Given the description of an element on the screen output the (x, y) to click on. 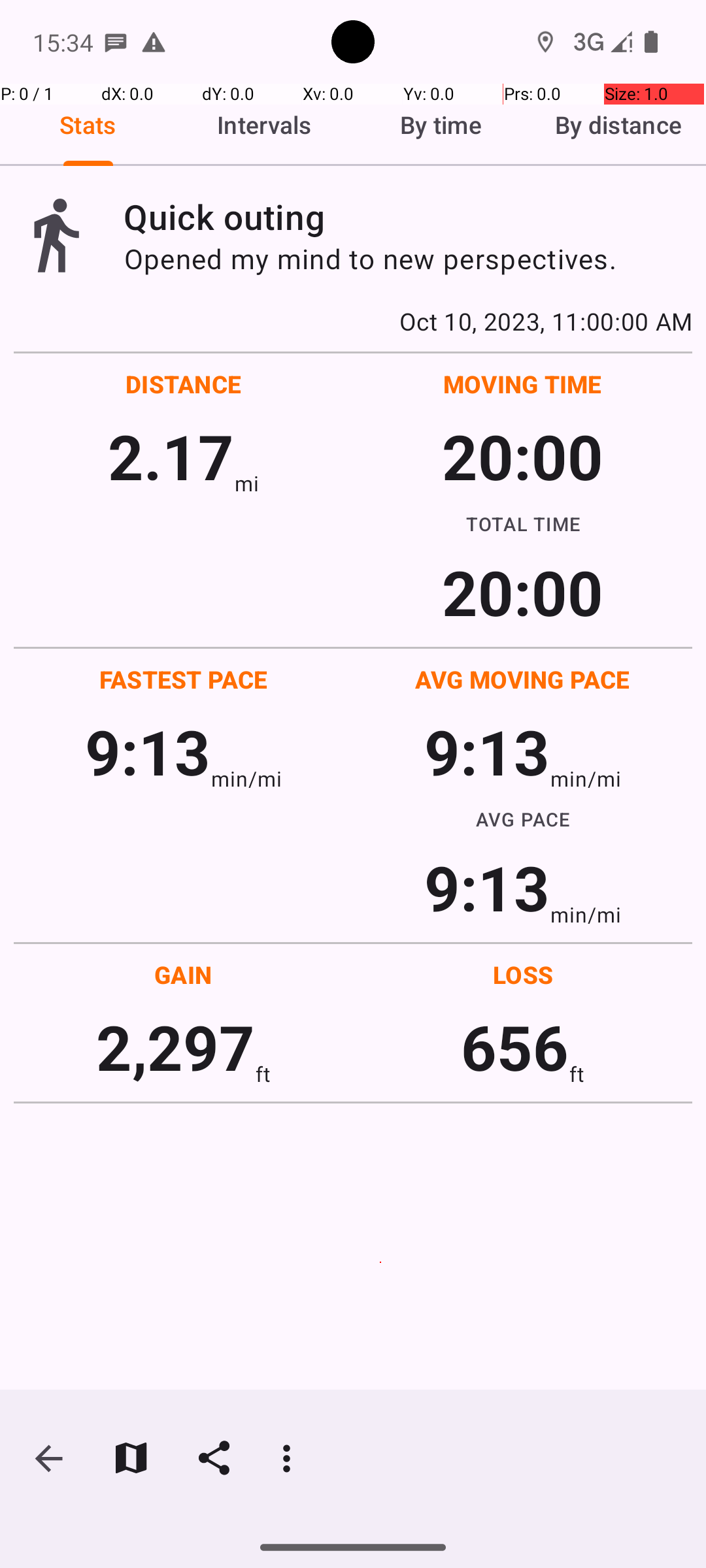
Quick outing Element type: android.widget.TextView (407, 216)
Opened my mind to new perspectives. Element type: android.widget.TextView (407, 258)
Oct 10, 2023, 11:00:00 AM Element type: android.widget.TextView (352, 320)
2.17 Element type: android.widget.TextView (170, 455)
20:00 Element type: android.widget.TextView (522, 455)
FASTEST PACE Element type: android.widget.TextView (183, 678)
AVG MOVING PACE Element type: android.widget.TextView (522, 678)
9:13 Element type: android.widget.TextView (147, 750)
min/mi Element type: android.widget.TextView (246, 778)
AVG PACE Element type: android.widget.TextView (522, 818)
2,297 Element type: android.widget.TextView (175, 1045)
656 Element type: android.widget.TextView (514, 1045)
